Given the description of an element on the screen output the (x, y) to click on. 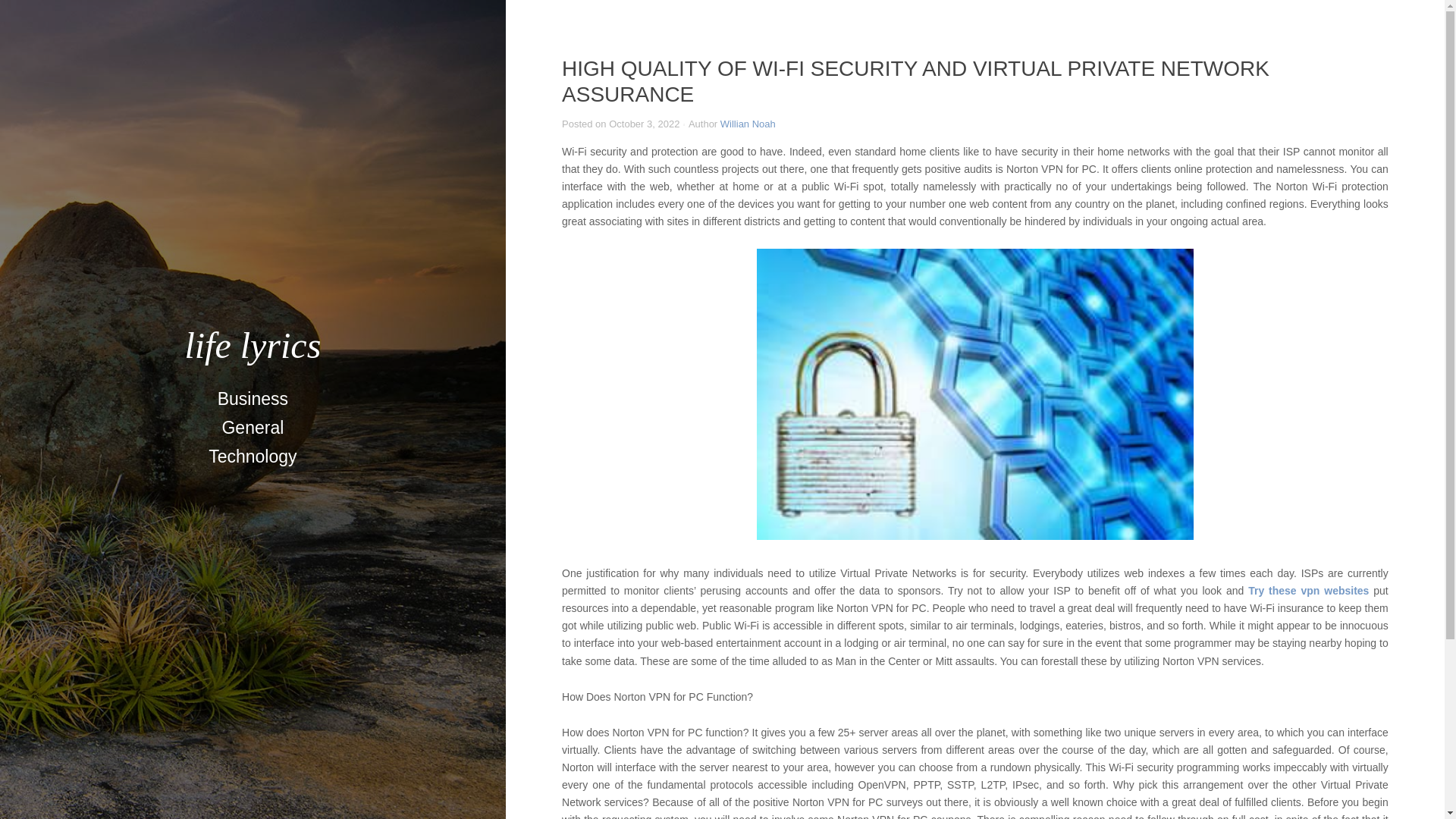
Business (252, 398)
life lyrics (252, 345)
General (252, 427)
Technology (252, 456)
Willian Noah (748, 123)
Try these vpn websites (1307, 590)
